Given the description of an element on the screen output the (x, y) to click on. 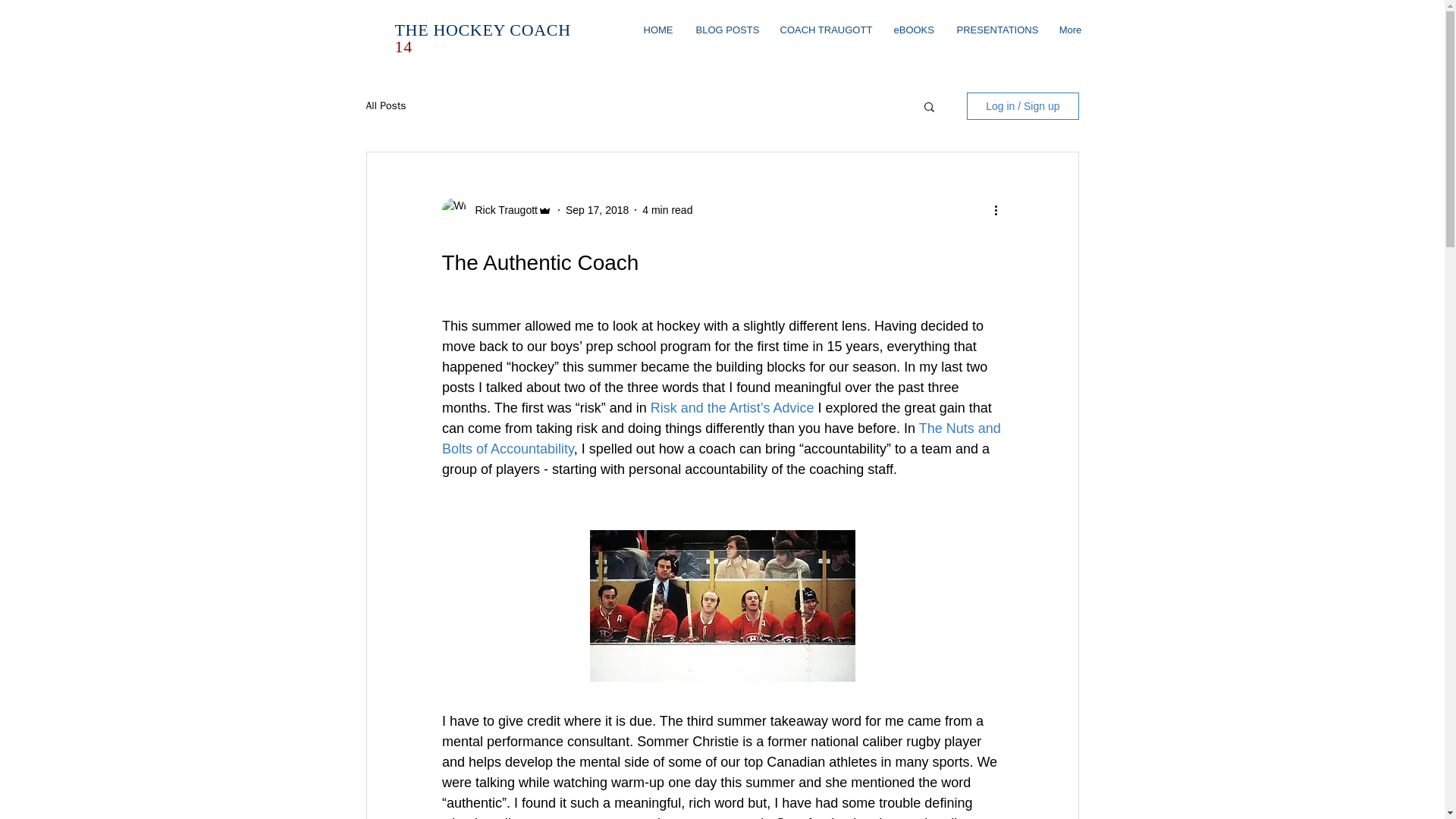
PRESENTATIONS (995, 29)
Rick Traugott (501, 209)
COACH TRAUGOTT (825, 29)
HOME (657, 29)
THE HOCKEY COACH 14 (482, 38)
Sep 17, 2018 (597, 209)
BLOG POSTS (726, 29)
eBOOKS (913, 29)
All Posts (385, 106)
4 min read (667, 209)
The Nuts and Bolts of Accountability (722, 438)
